Given the description of an element on the screen output the (x, y) to click on. 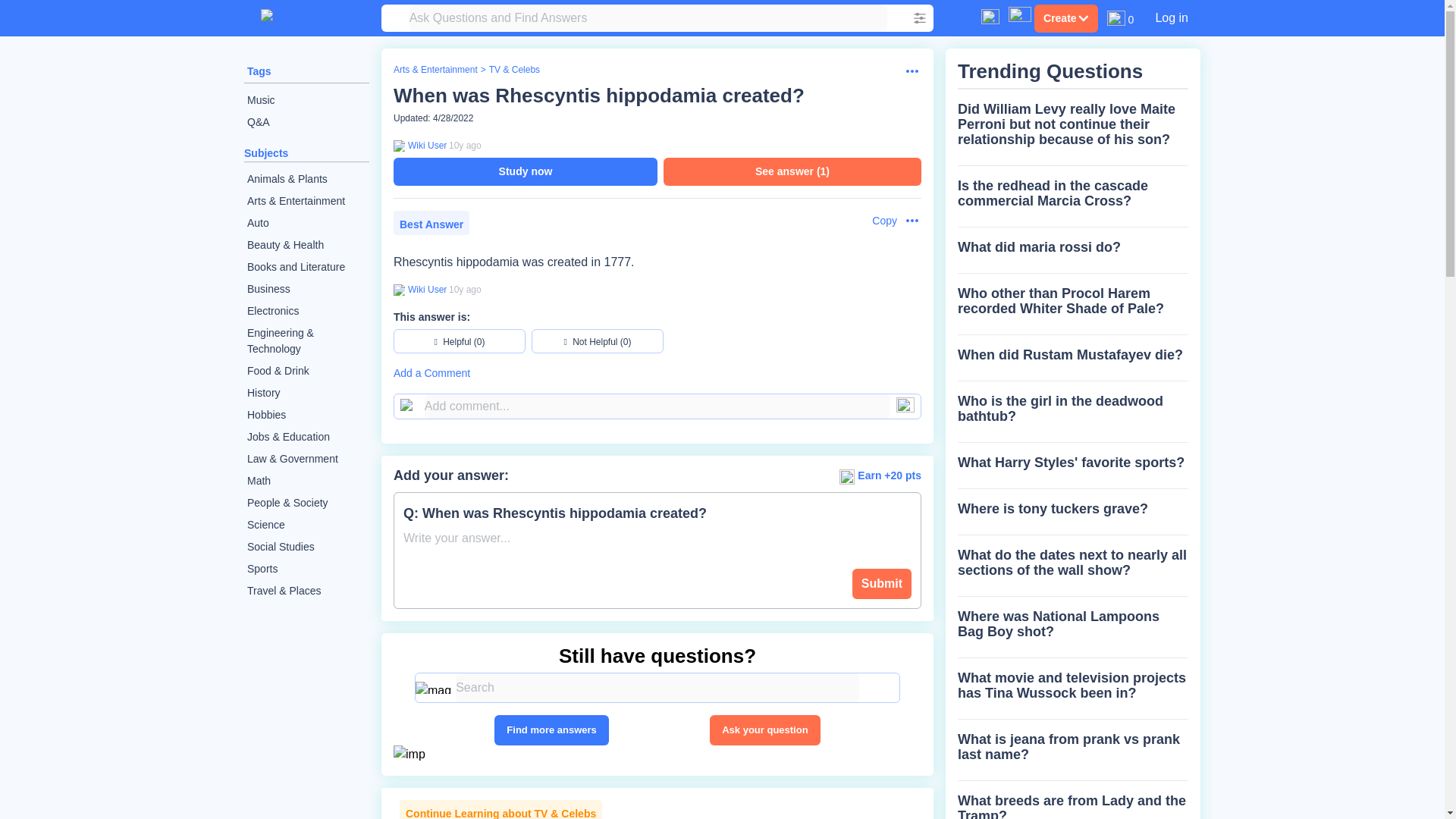
Ask your question (764, 729)
Sports (306, 568)
Social Studies (306, 546)
Log in (1170, 17)
History (306, 393)
Find more answers (551, 729)
2014-05-03 02:09:29 (464, 145)
Copy (876, 220)
Create (1065, 18)
When was Rhescyntis hippodamia created? (599, 95)
Add a Comment (657, 373)
Tags (258, 70)
Business (306, 289)
Music (306, 100)
Auto (306, 223)
